Given the description of an element on the screen output the (x, y) to click on. 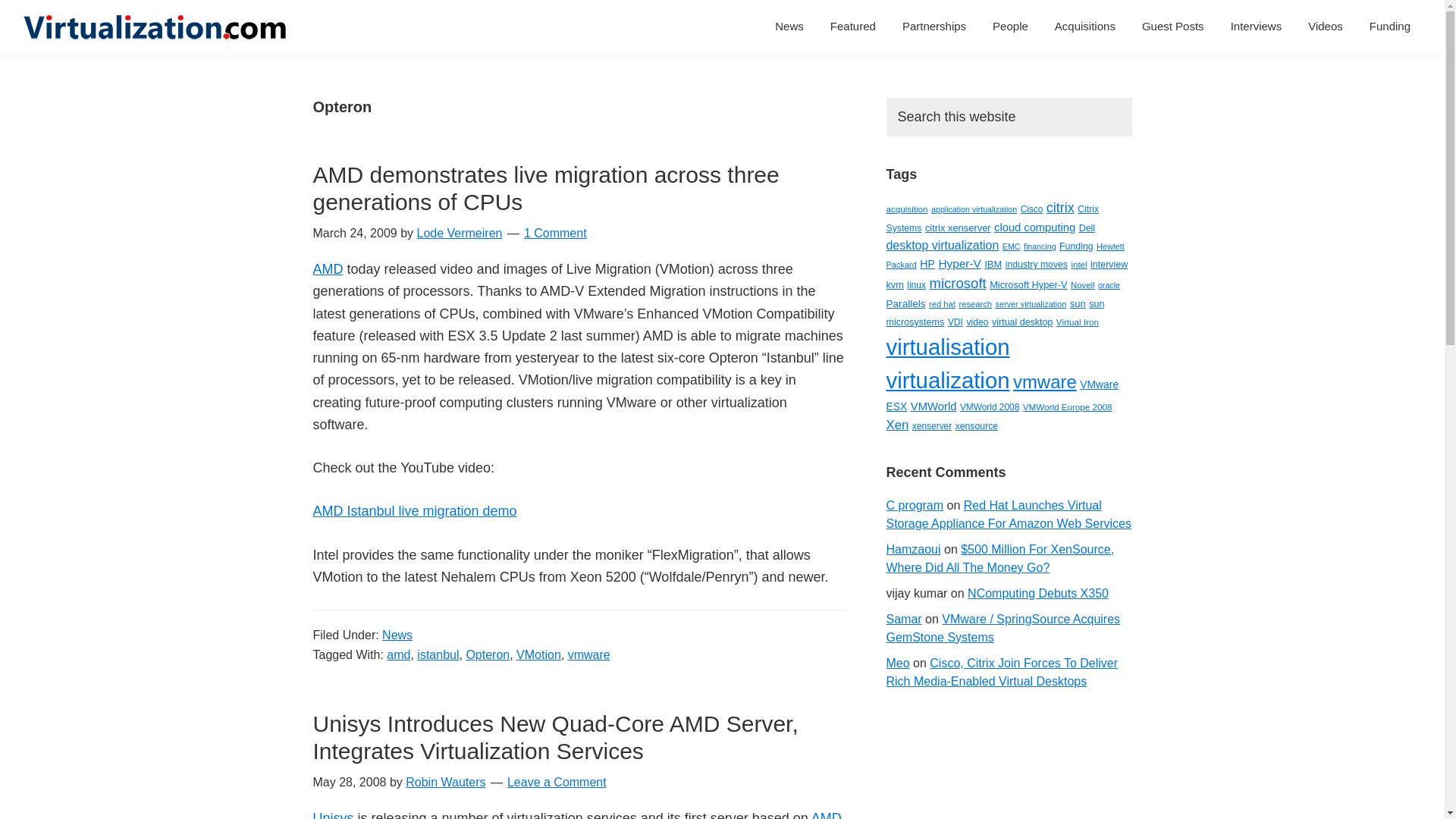
People (1010, 25)
AMD (327, 268)
AMD (825, 814)
amd (398, 654)
Interviews (1257, 25)
Partnerships (933, 25)
News (788, 25)
